Given the description of an element on the screen output the (x, y) to click on. 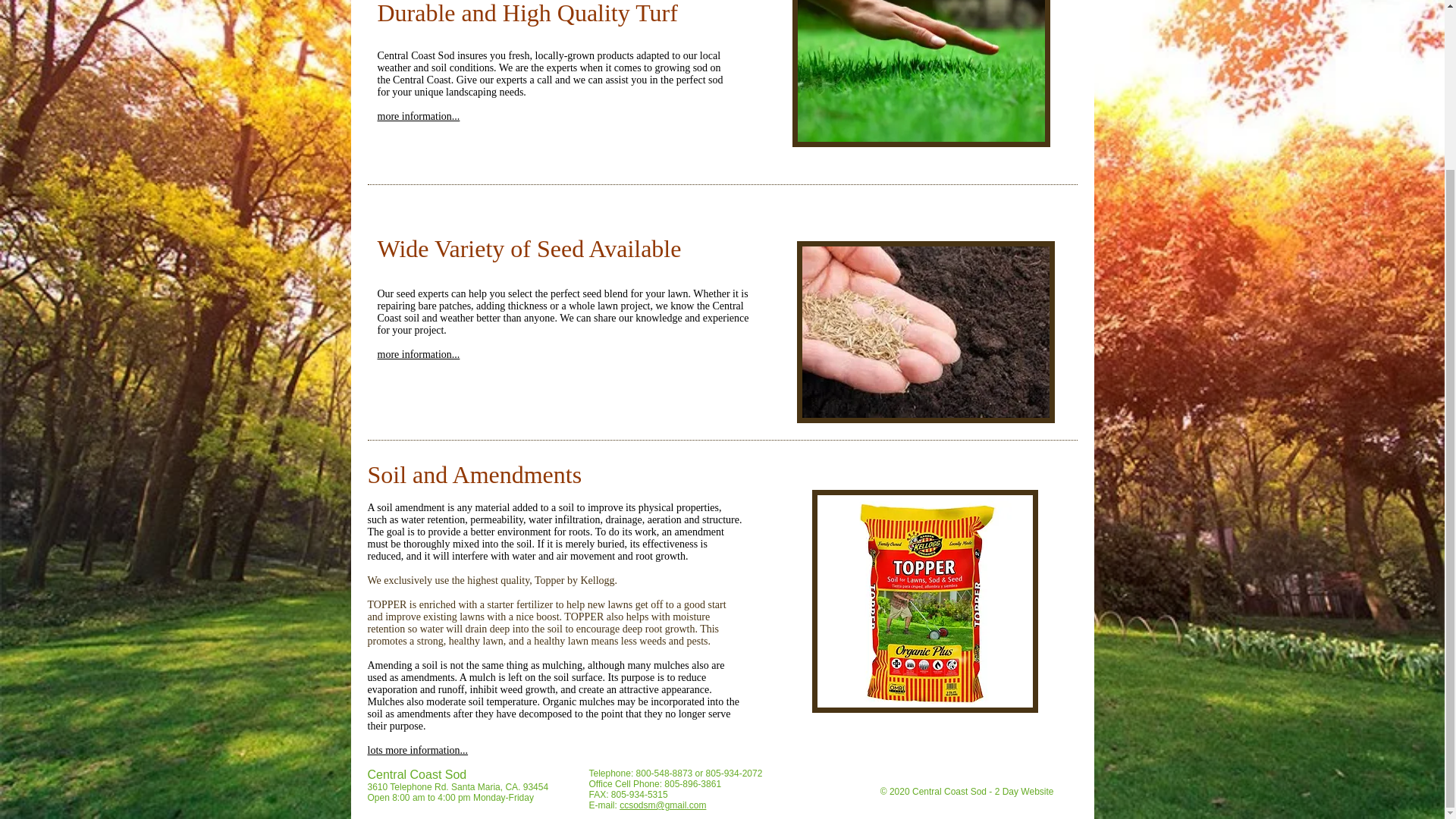
lots more information... (416, 749)
more information... (418, 354)
more information... (418, 116)
